Given the description of an element on the screen output the (x, y) to click on. 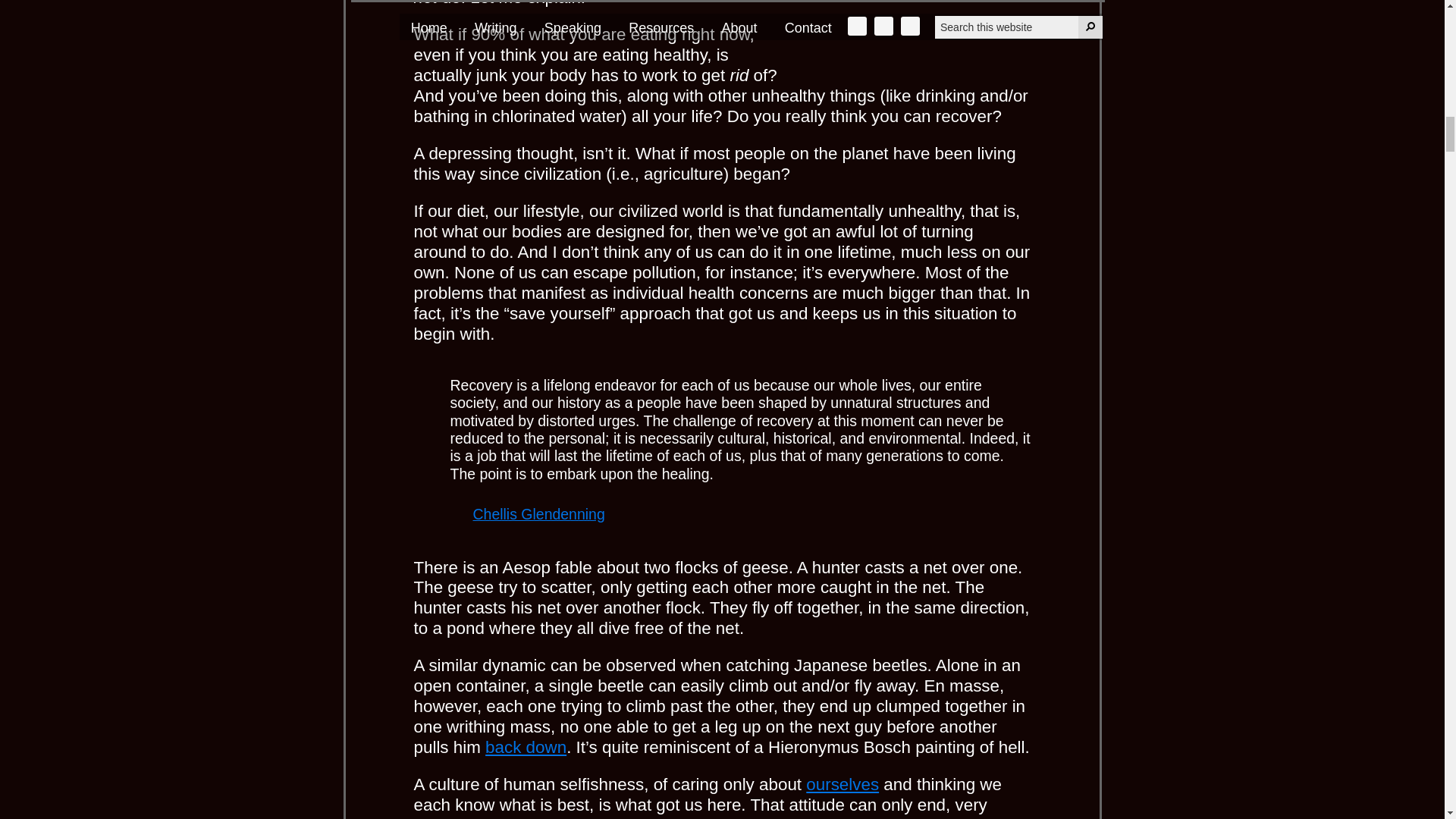
Alan Muskat, "Body Care" (842, 783)
eat the right foods (916, 31)
